Given the description of an element on the screen output the (x, y) to click on. 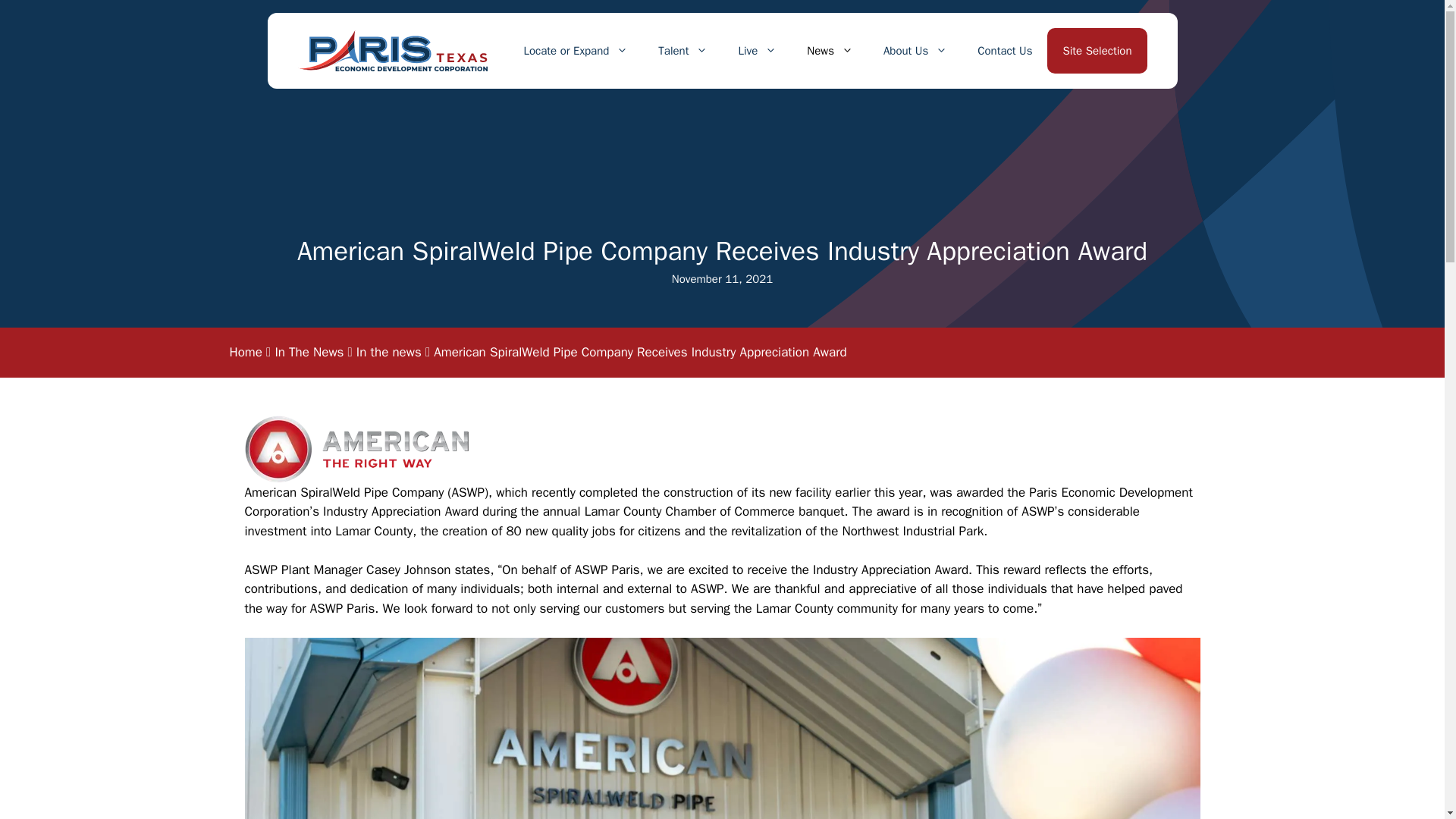
About Us (914, 50)
Contact Us (1004, 50)
Talent (682, 50)
Site Selection (1096, 50)
Locate or Expand (575, 50)
News (829, 50)
Live (757, 50)
